Given the description of an element on the screen output the (x, y) to click on. 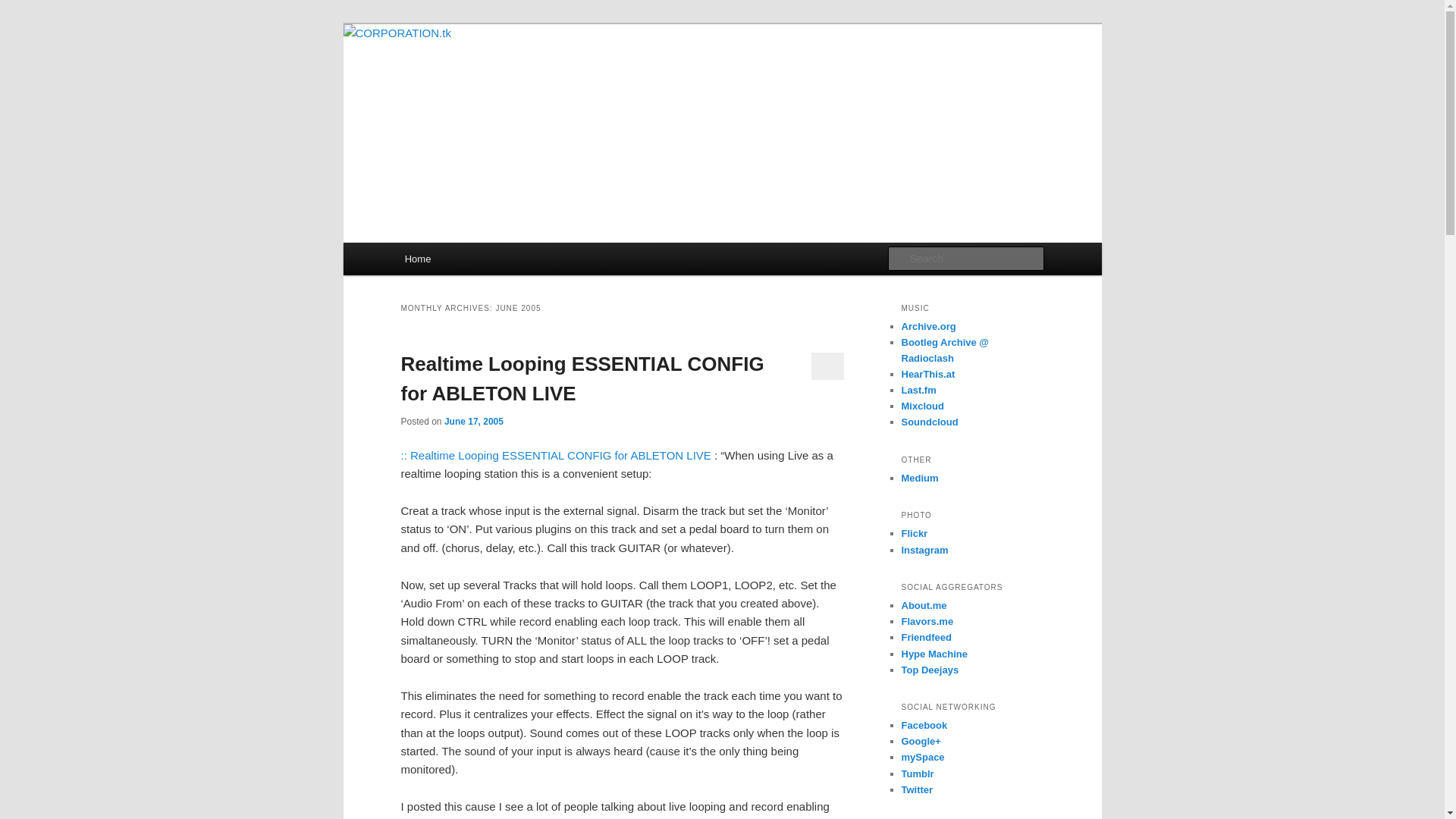
Home (417, 258)
:: Realtime Looping ESSENTIAL CONFIG for ABLETON LIVE (557, 454)
June 17, 2005 (473, 420)
CORPORATION.tk (497, 78)
Realtime Looping ESSENTIAL CONFIG for ABLETON LIVE (581, 378)
Search (24, 8)
2:07 PM (473, 420)
